Given the description of an element on the screen output the (x, y) to click on. 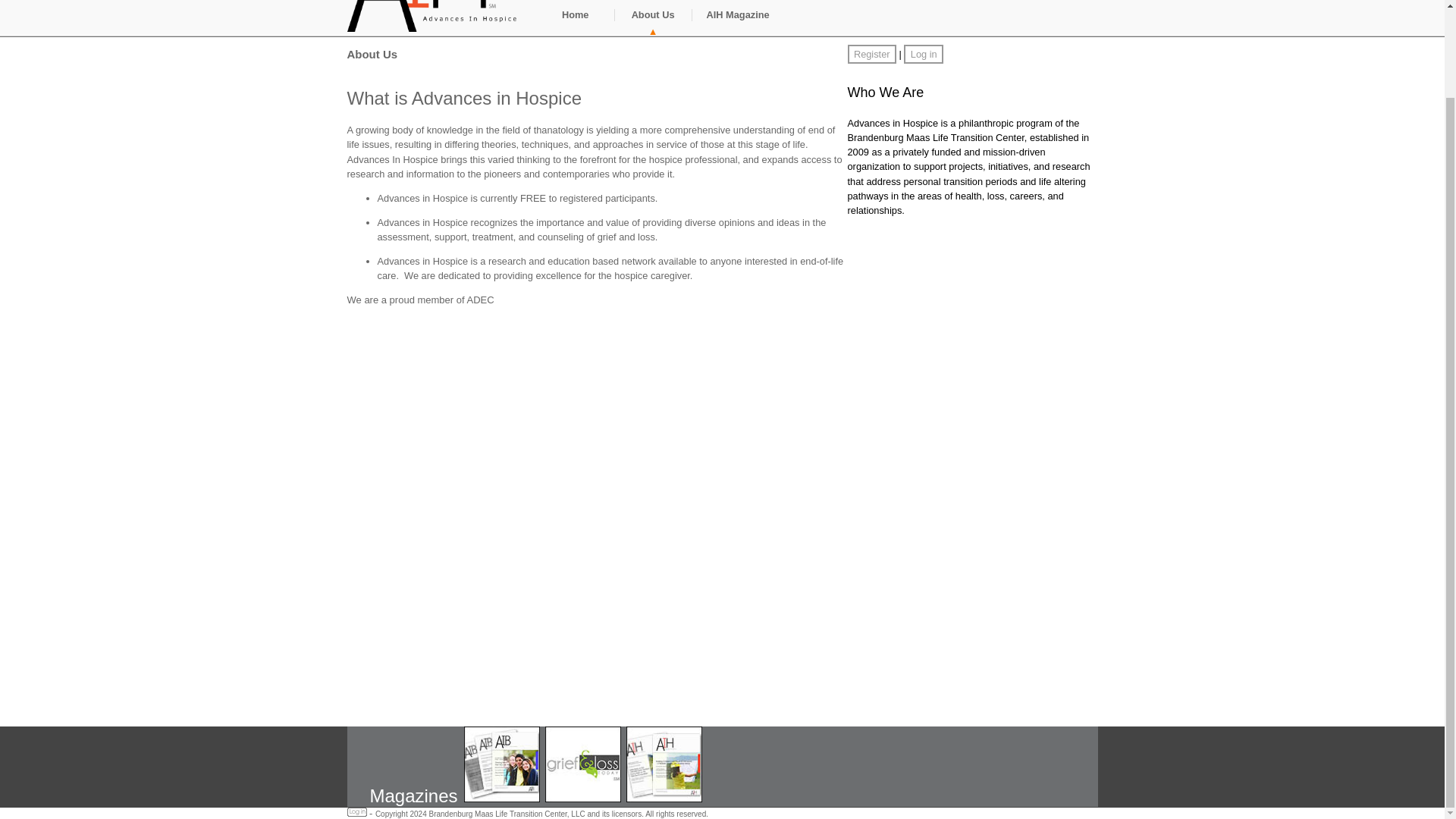
AIH Magazine (737, 22)
Register (871, 54)
About Us (652, 22)
Log in (923, 54)
Home (575, 22)
